Given the description of an element on the screen output the (x, y) to click on. 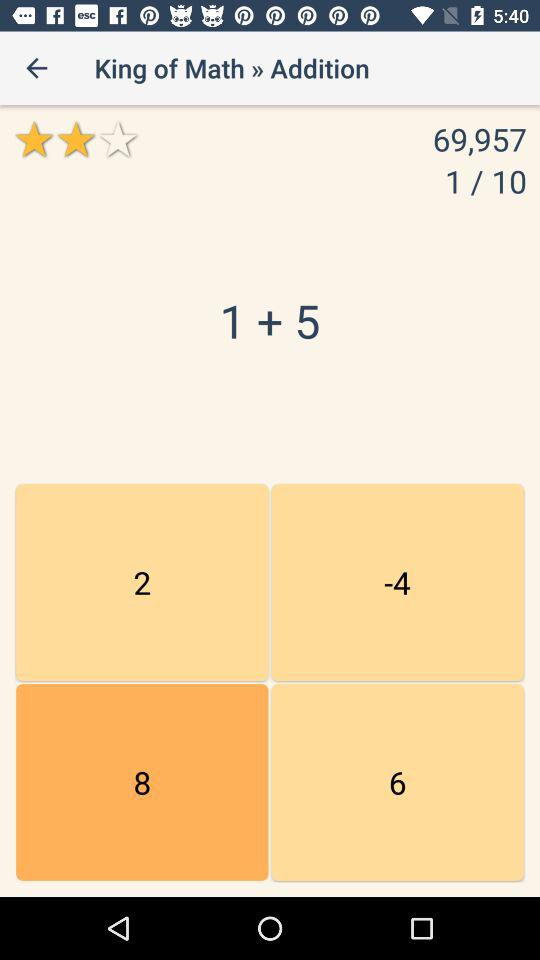
launch the 19 (142, 781)
